Given the description of an element on the screen output the (x, y) to click on. 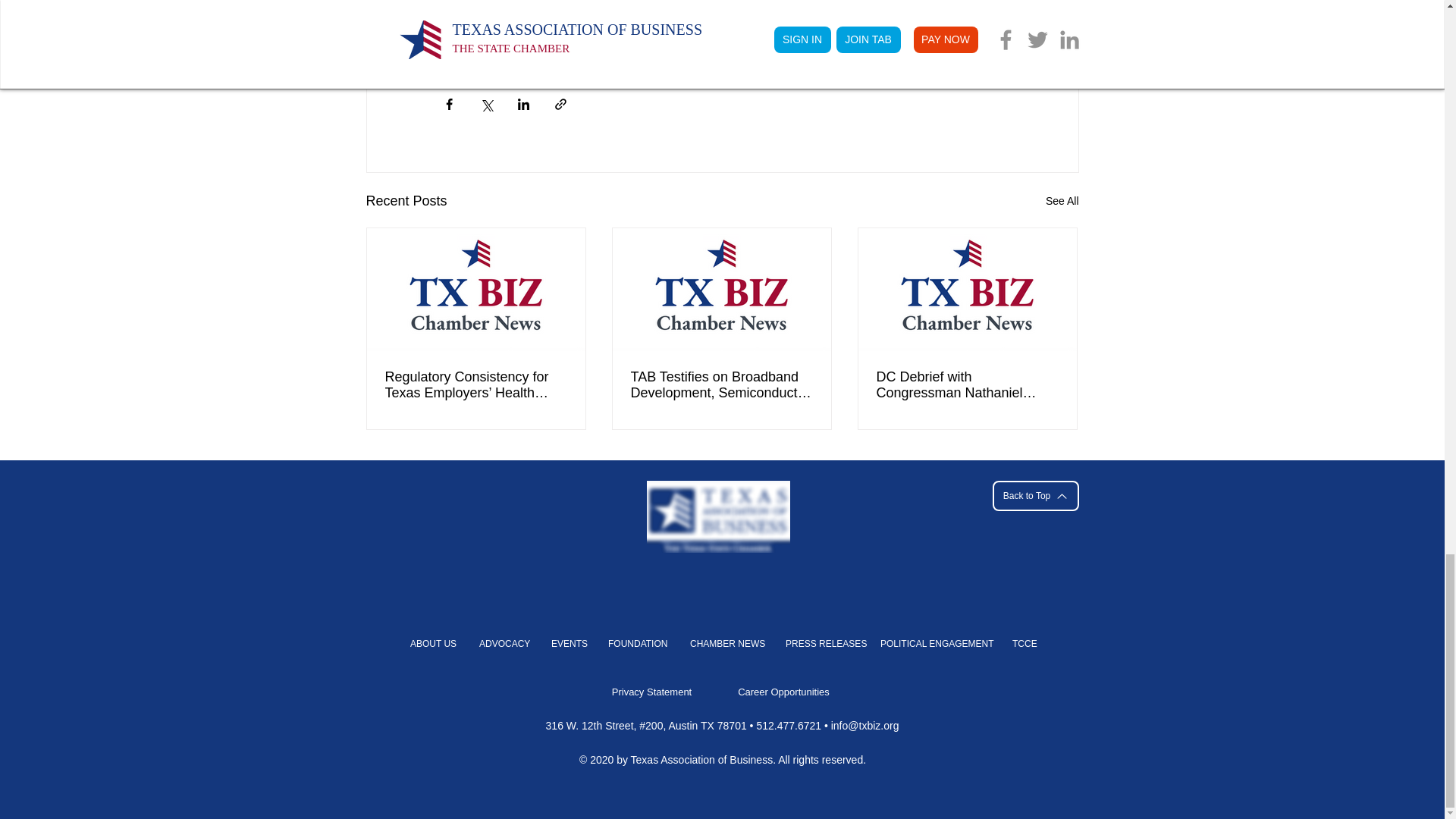
DC Debrief with Congressman Nathaniel Moran (967, 385)
ADVOCACY (502, 643)
ABOUT US (432, 643)
Back to Top (1034, 495)
See All (1061, 201)
